Given the description of an element on the screen output the (x, y) to click on. 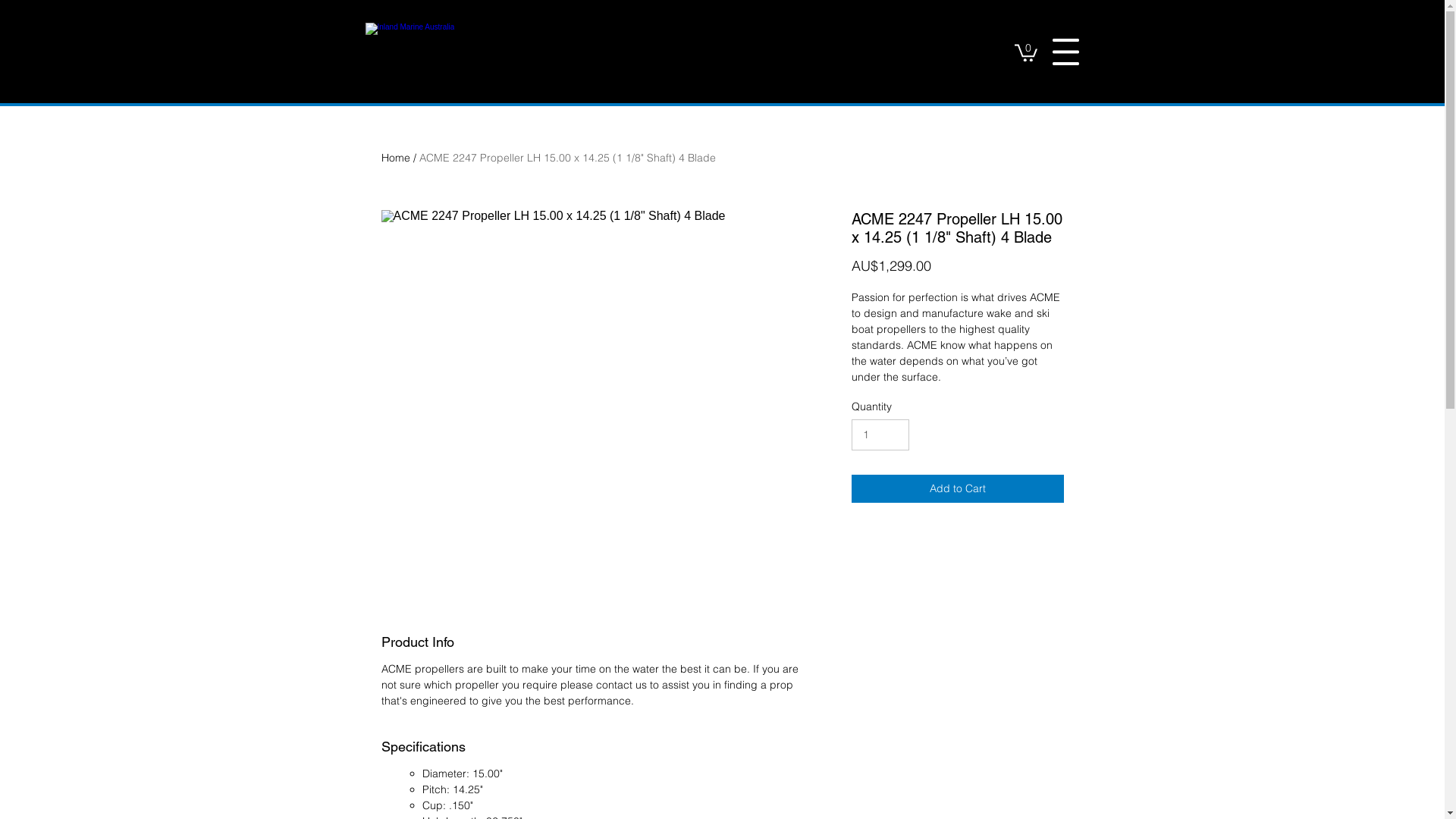
0 Element type: text (1025, 51)
Home Element type: text (394, 157)
ACME 2247 Propeller LH 15.00 x 14.25 (1 1/8" Shaft) 4 Blade Element type: text (566, 157)
Add to Cart Element type: text (956, 488)
